Given the description of an element on the screen output the (x, y) to click on. 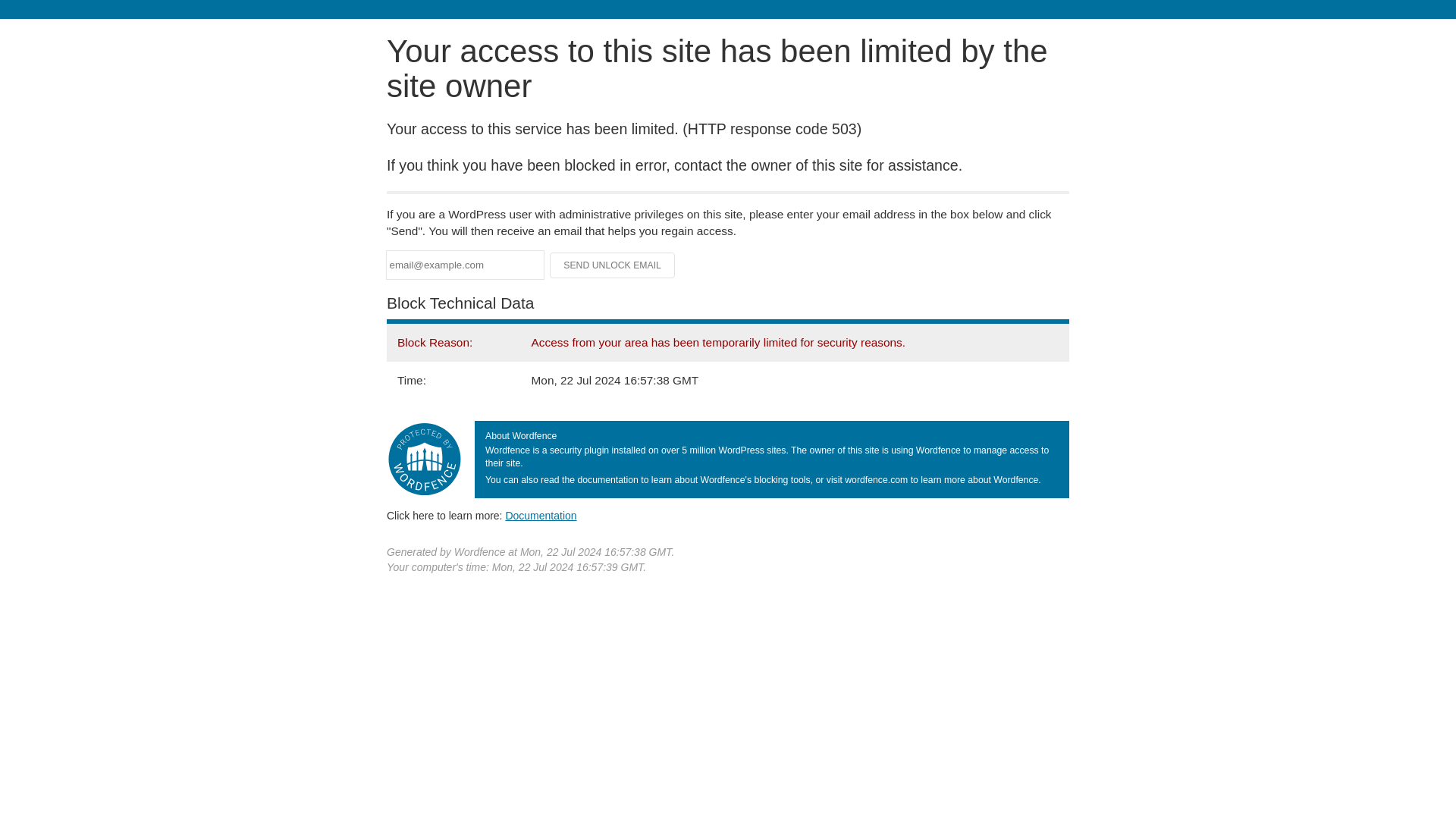
Documentation (540, 515)
Send Unlock Email (612, 265)
Send Unlock Email (612, 265)
